Given the description of an element on the screen output the (x, y) to click on. 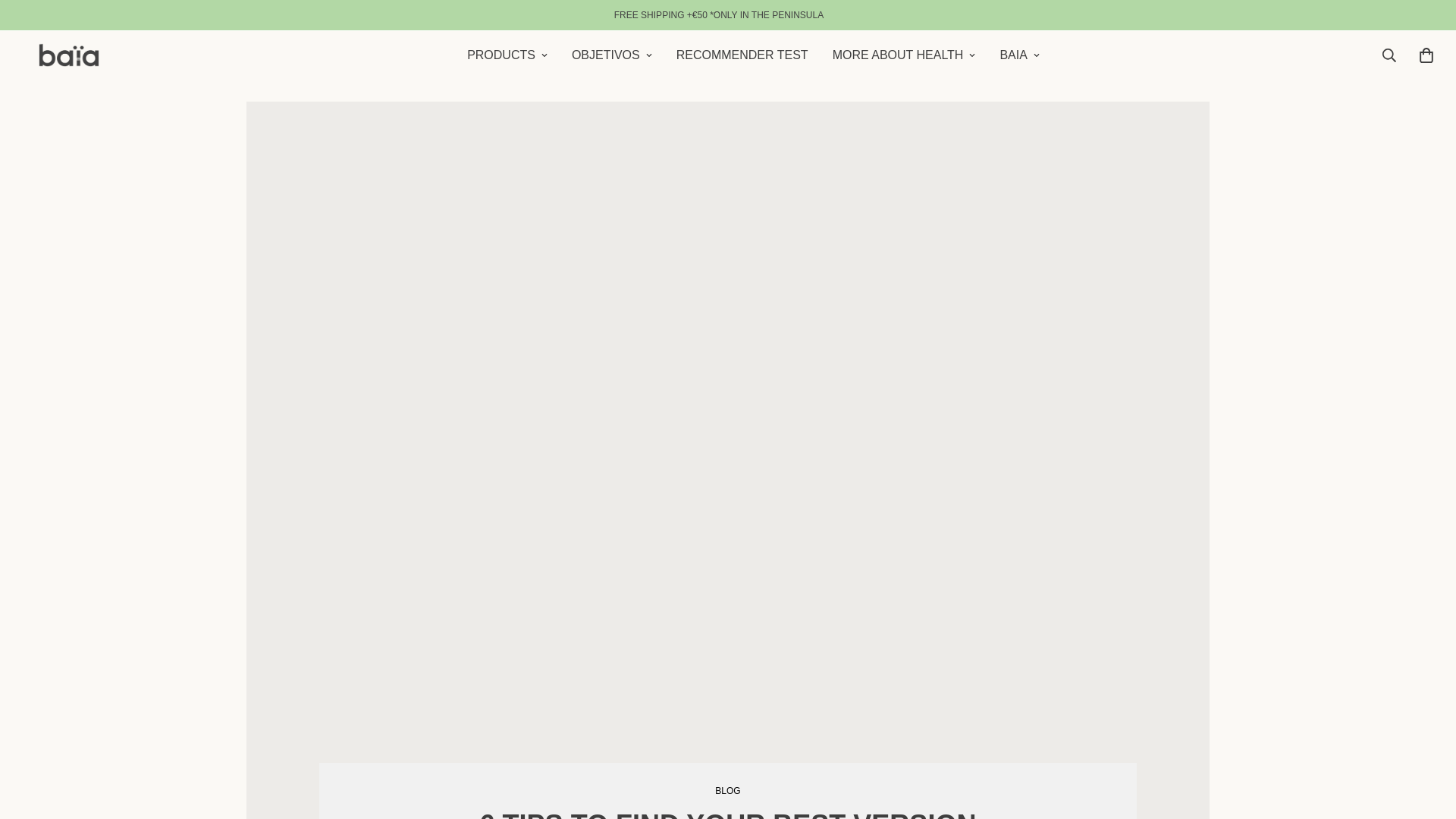
PRODUCTS (753, 54)
